Given the description of an element on the screen output the (x, y) to click on. 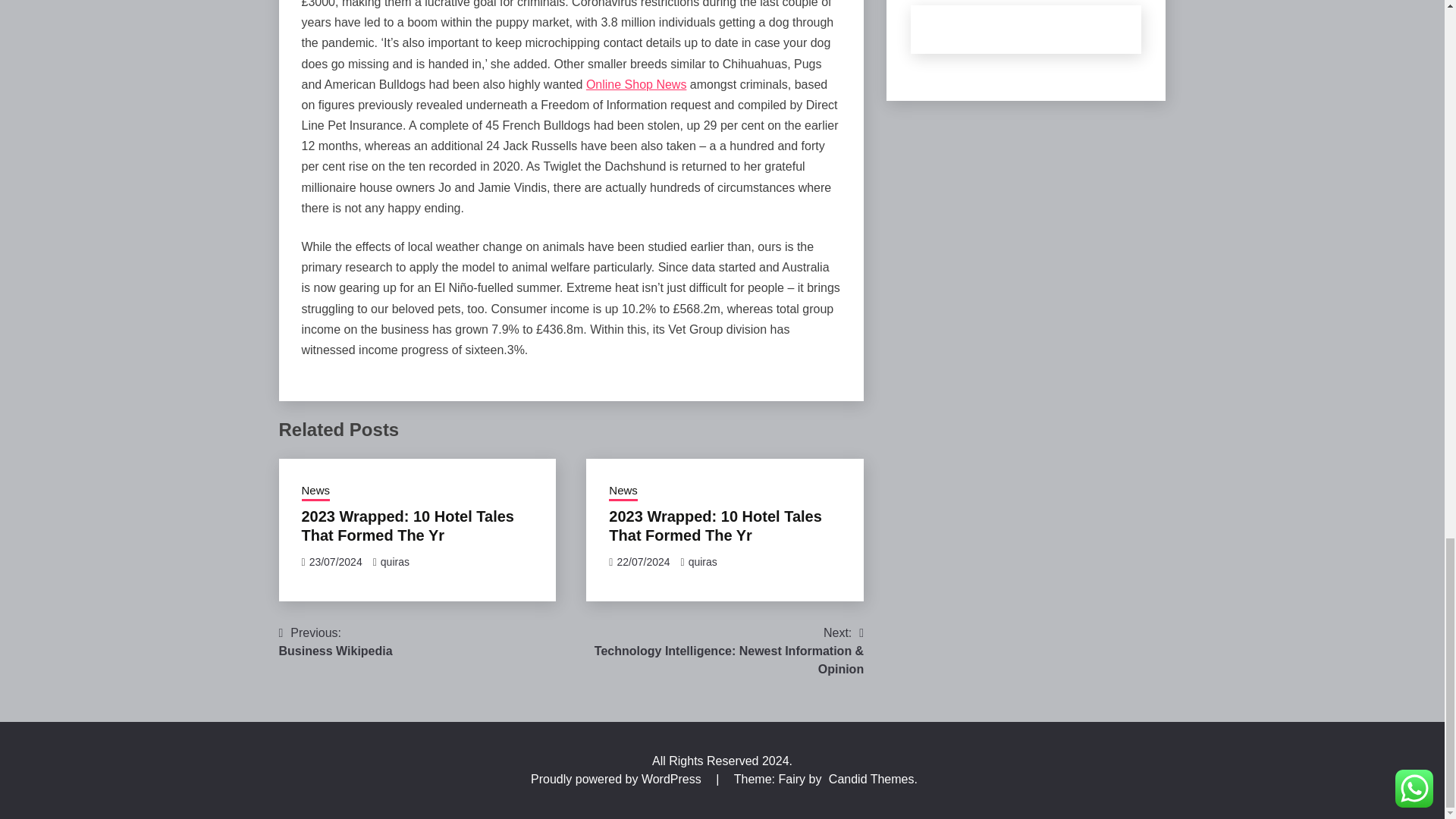
2023 Wrapped: 10 Hotel Tales That Formed The Yr (407, 525)
2023 Wrapped: 10 Hotel Tales That Formed The Yr (714, 525)
News (315, 492)
quiras (394, 562)
quiras (702, 562)
Online Shop News (336, 642)
News (636, 83)
